Given the description of an element on the screen output the (x, y) to click on. 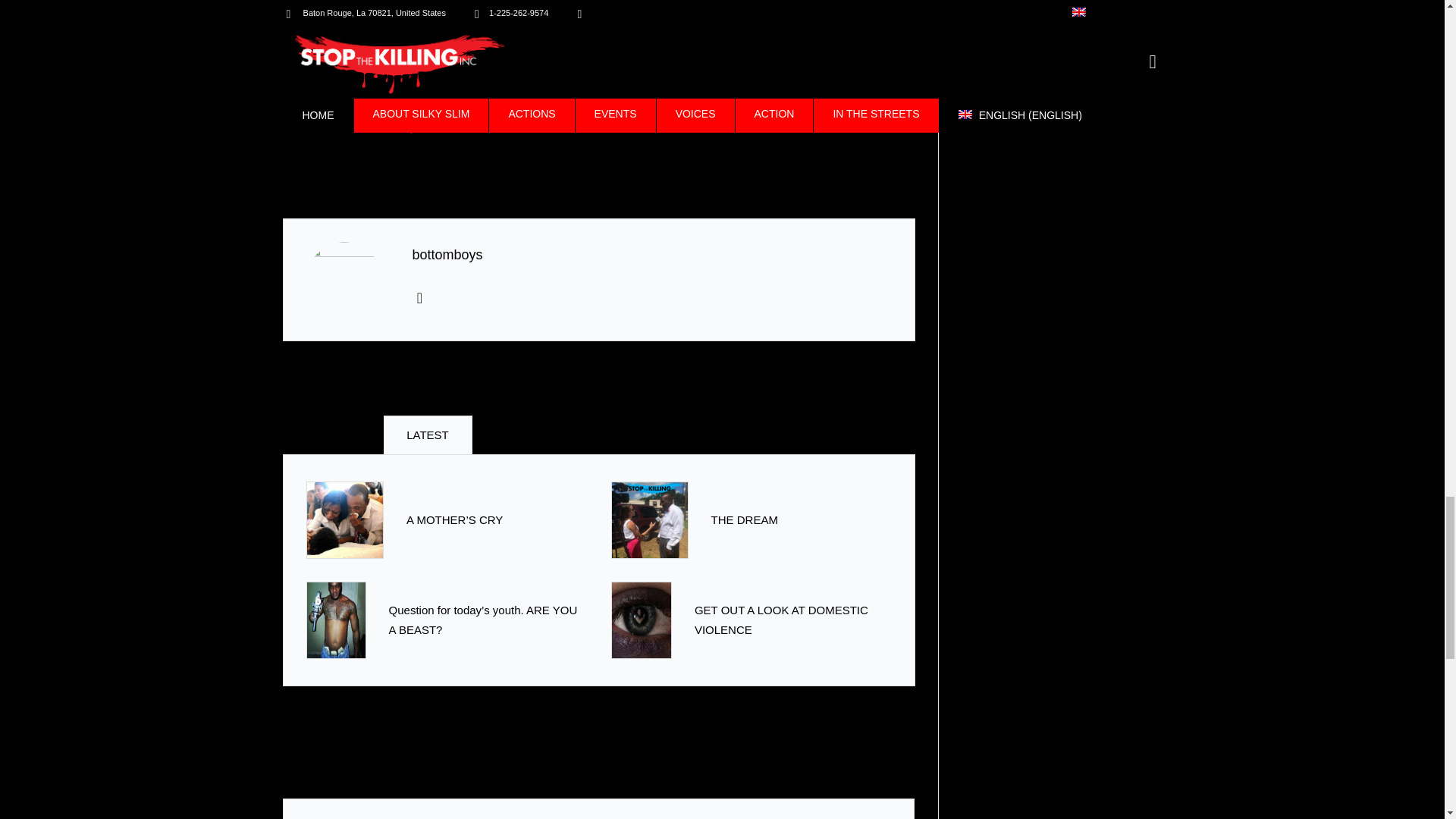
GET OUT A LOOK AT DOMESTIC VIOLENCE (777, 2)
POPULAR (333, 434)
THE DREAM (744, 519)
Tweet (295, 112)
LATEST (427, 434)
